Given the description of an element on the screen output the (x, y) to click on. 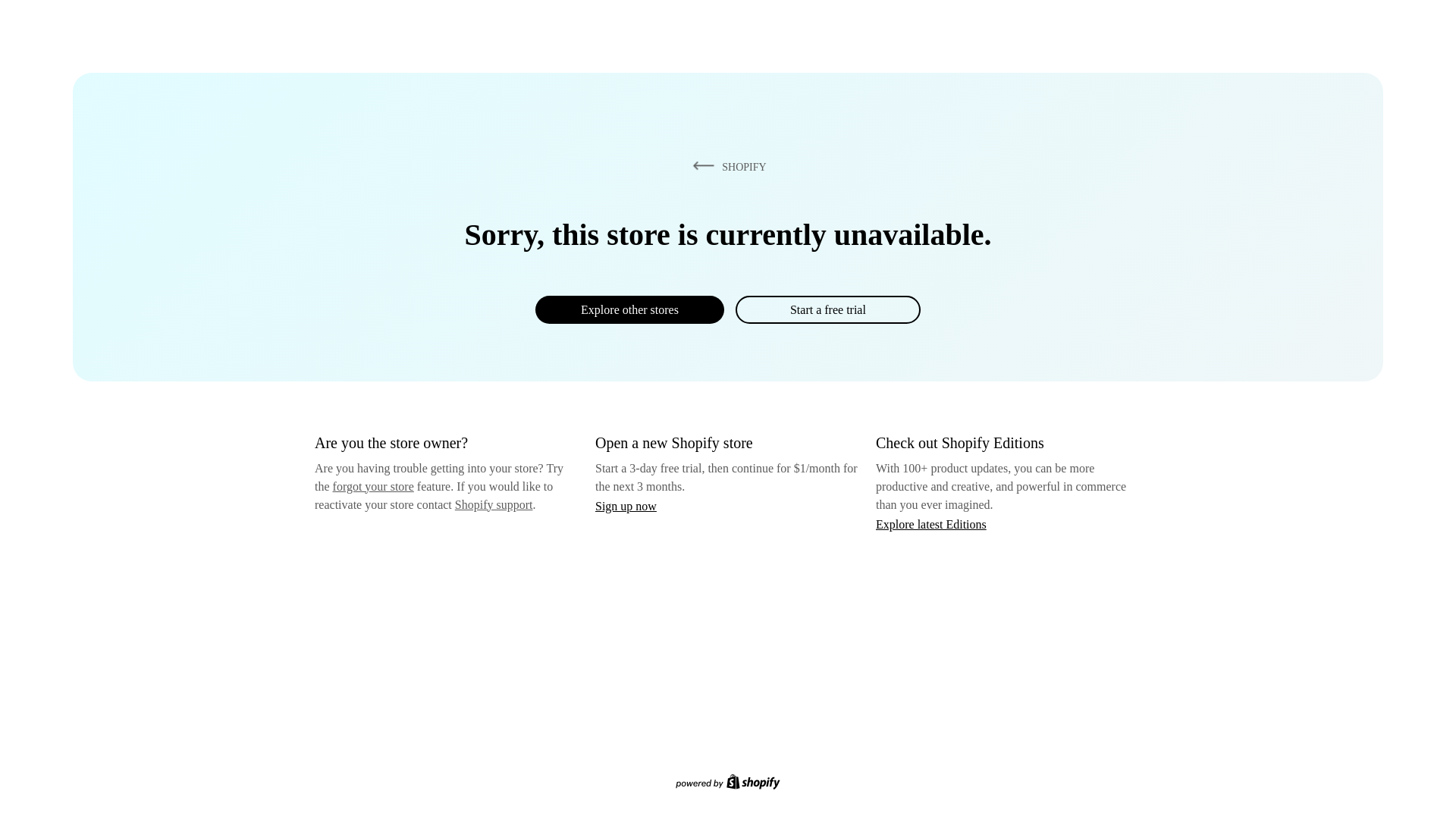
Explore latest Editions (931, 523)
Shopify support (493, 504)
Sign up now (625, 505)
Explore other stores (629, 309)
forgot your store (373, 486)
SHOPIFY (726, 166)
Start a free trial (827, 309)
